Given the description of an element on the screen output the (x, y) to click on. 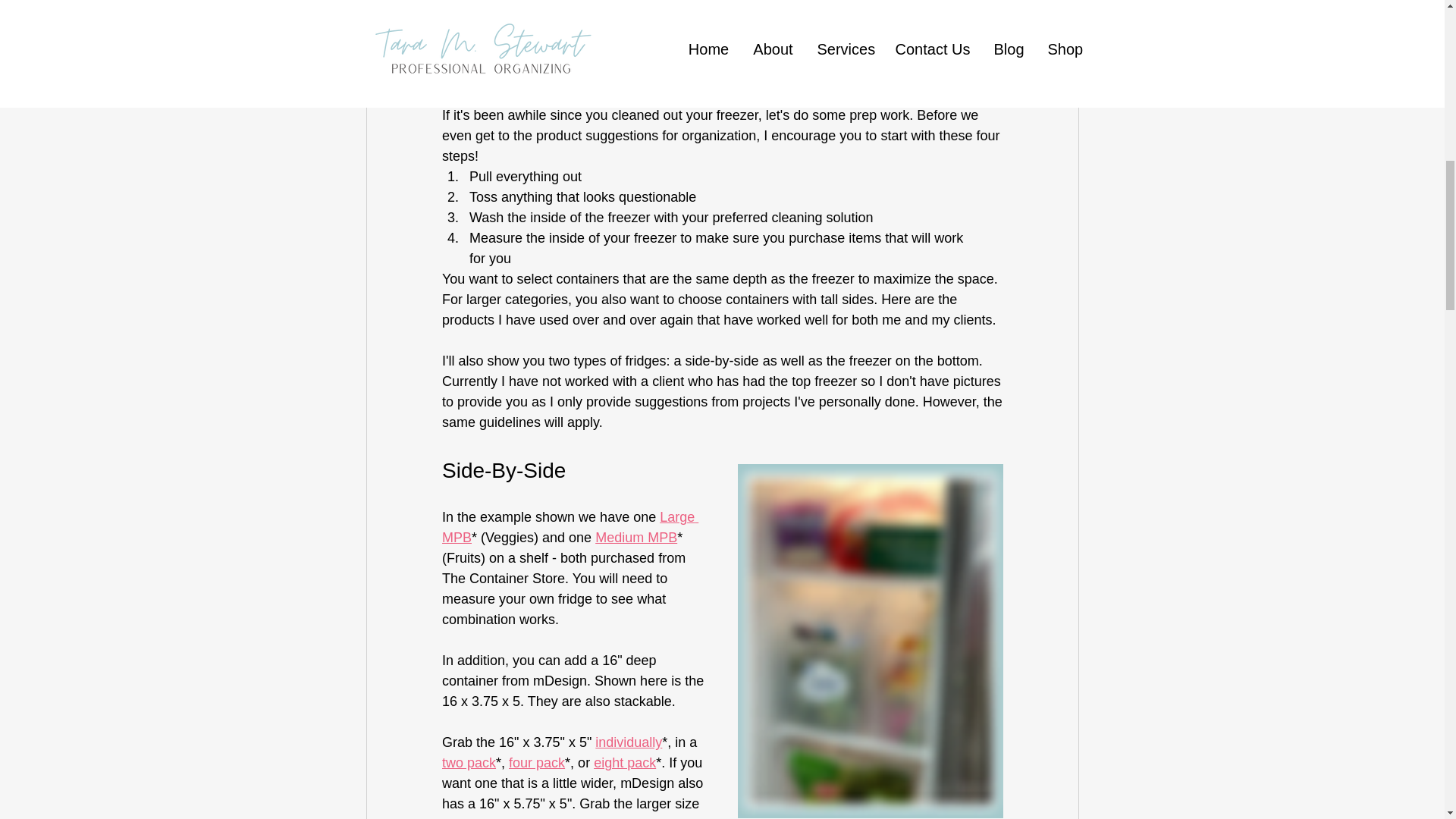
Medium MPB (636, 537)
two pack (604, 817)
four pack (673, 817)
four pack (536, 762)
Large MPB (569, 527)
individually (506, 817)
eight pack (625, 762)
two pack (468, 762)
individually (628, 742)
